Given the description of an element on the screen output the (x, y) to click on. 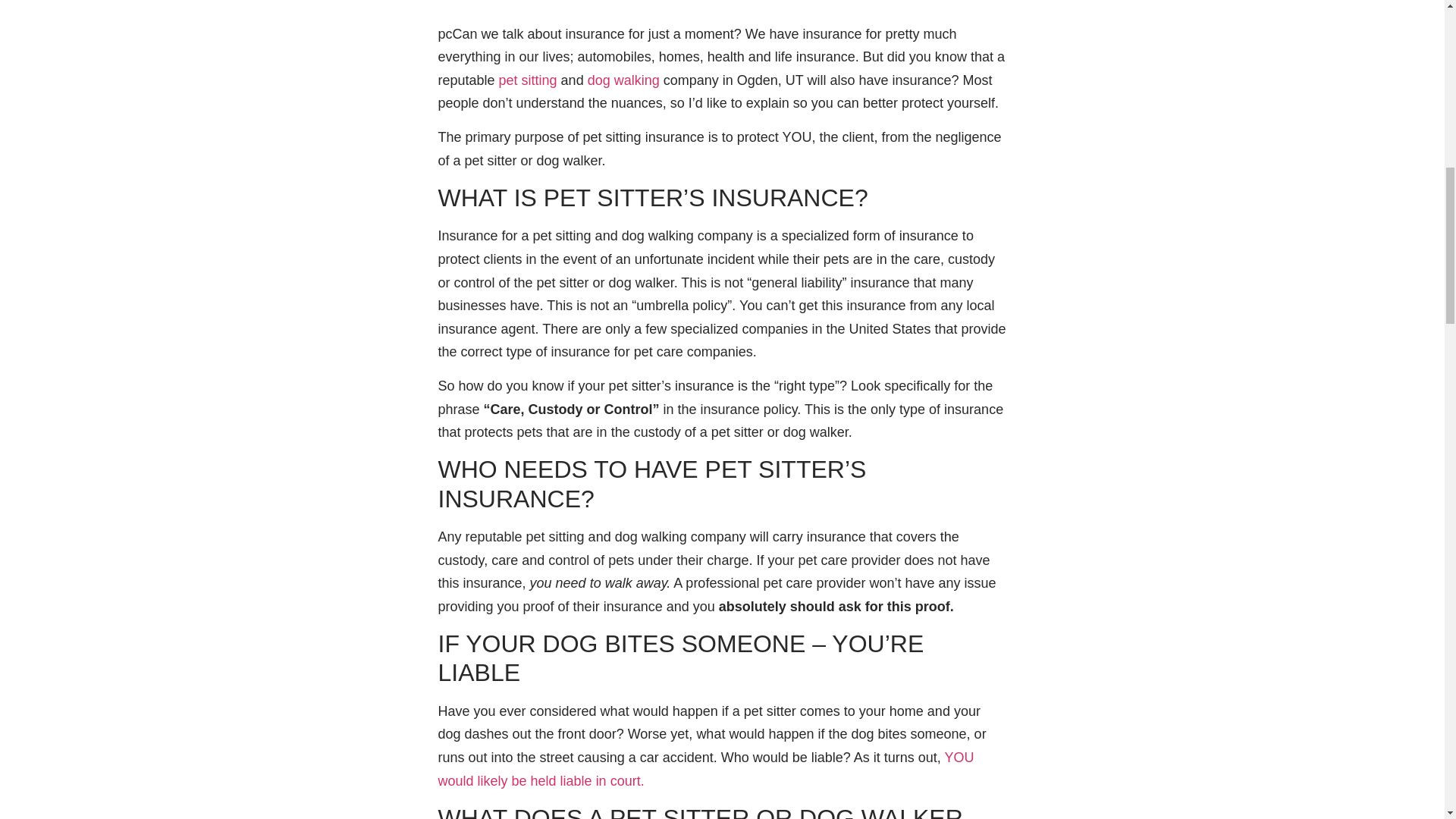
YOU would likely be held liable in court. (706, 769)
dog walking (625, 79)
pet sitting (528, 79)
